Given the description of an element on the screen output the (x, y) to click on. 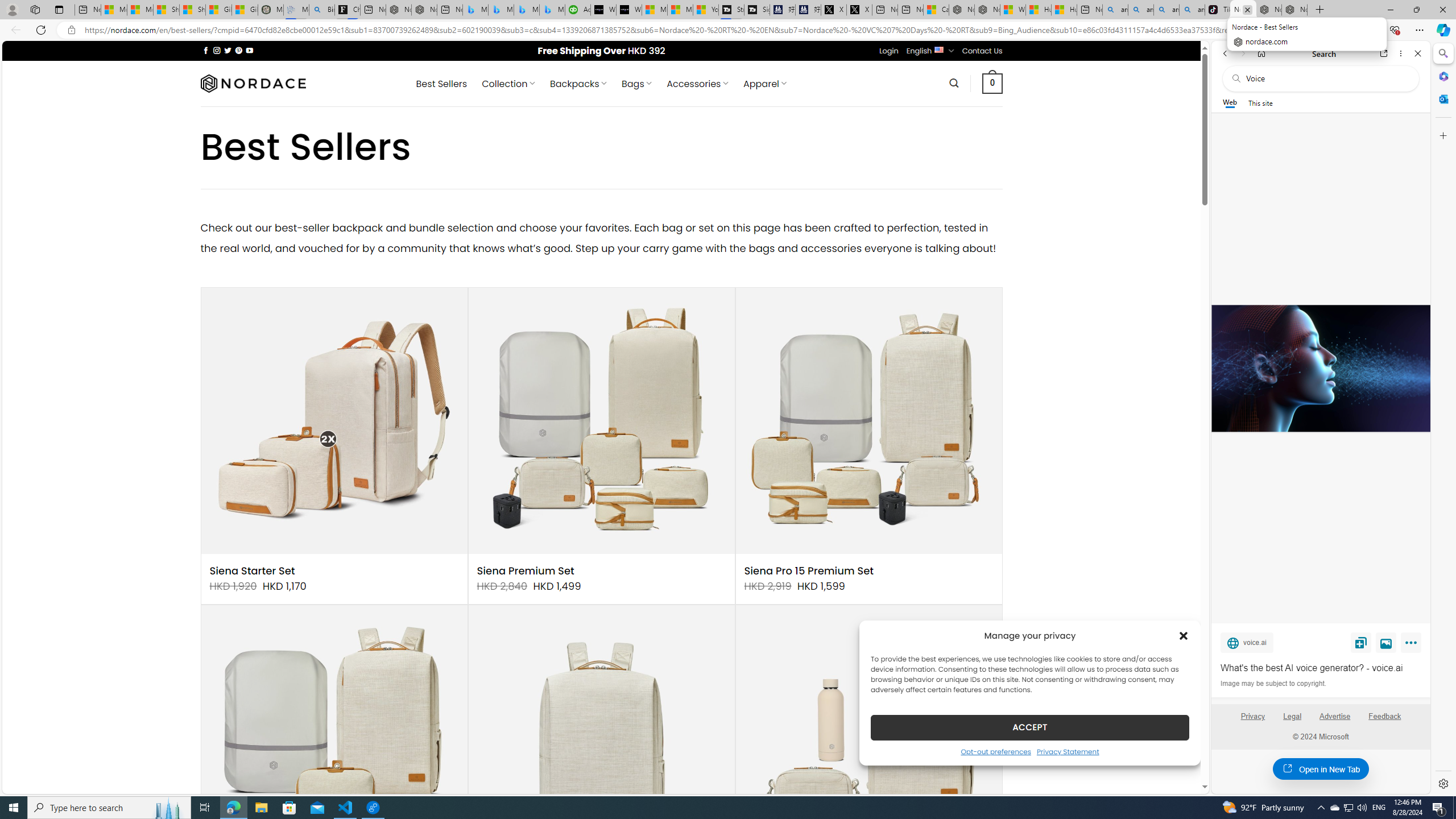
Nordace - Siena Pro 15 Essential Set (1293, 9)
ACCEPT (1029, 727)
amazon - Search Images (1191, 9)
Follow on YouTube (249, 49)
Follow on Facebook (205, 49)
Manatee Mortality Statistics | FWC (270, 9)
Siena Pro 15 Premium Set (808, 571)
Class: cmplz-close (1183, 635)
Opt-out preferences (995, 750)
Home (1261, 53)
Nordace Siena Pro 15 Backpack (1268, 9)
Feedback (1384, 715)
